Given the description of an element on the screen output the (x, y) to click on. 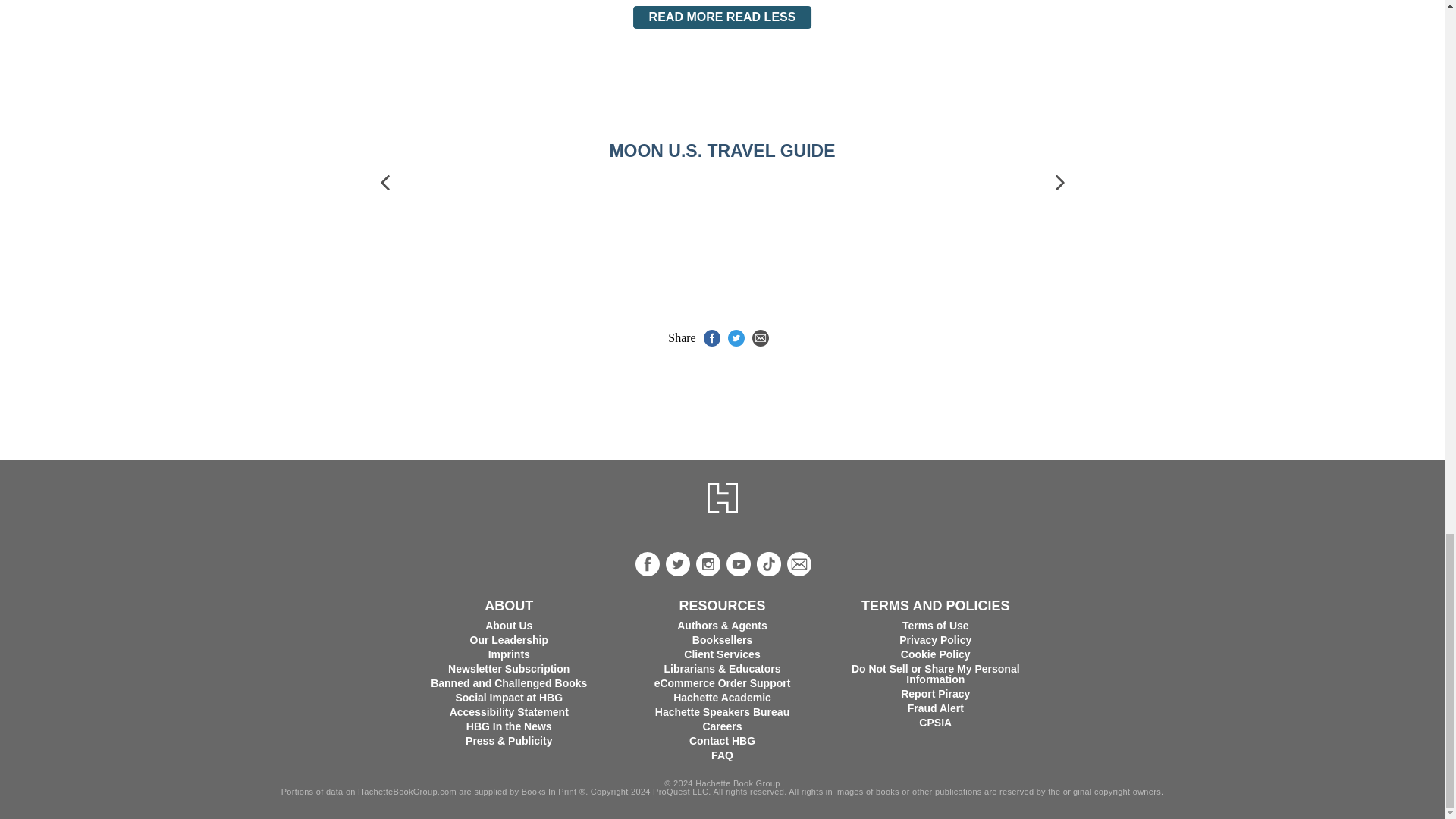
Arrow Icon (384, 182)
FACEBOOK ICON ROUND FB ICON WITH F INITIAL (646, 564)
TIKTOK-ROUND-ICON (768, 564)
READ MORE READ LESS (722, 16)
Hachette Logo Large H Initial (721, 498)
EMAIL ICON ENVELOPE (798, 564)
TWITTER ICON TWITTER LOGO (677, 564)
Arrow Icon (1058, 182)
INSTAGRAM ICON INSTAGRAM ICON (707, 564)
